Given the description of an element on the screen output the (x, y) to click on. 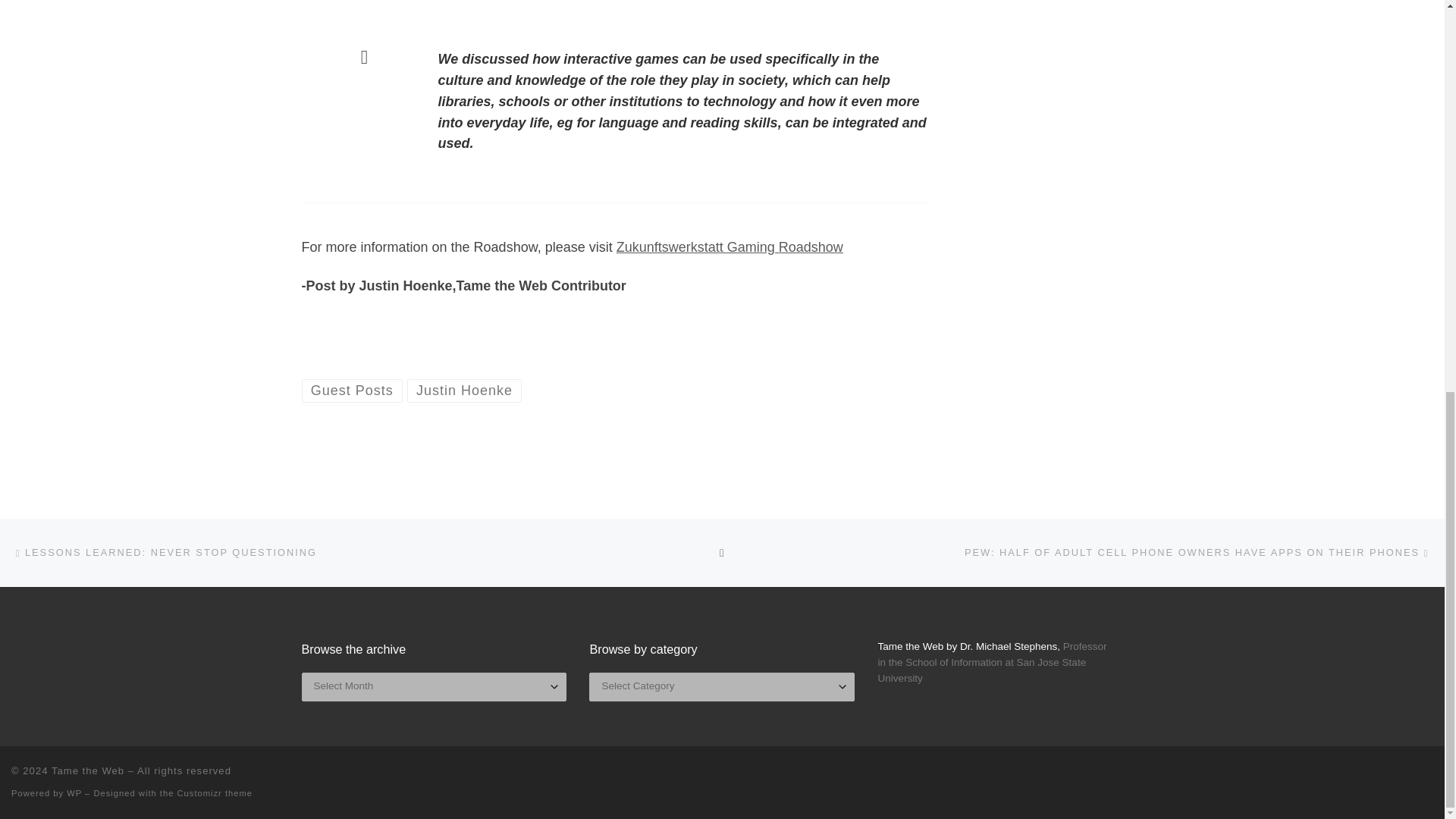
Justin Hoenke (464, 390)
Guest Posts (352, 390)
Zukunftswerkstatt Gaming Roadshow (729, 246)
